Given the description of an element on the screen output the (x, y) to click on. 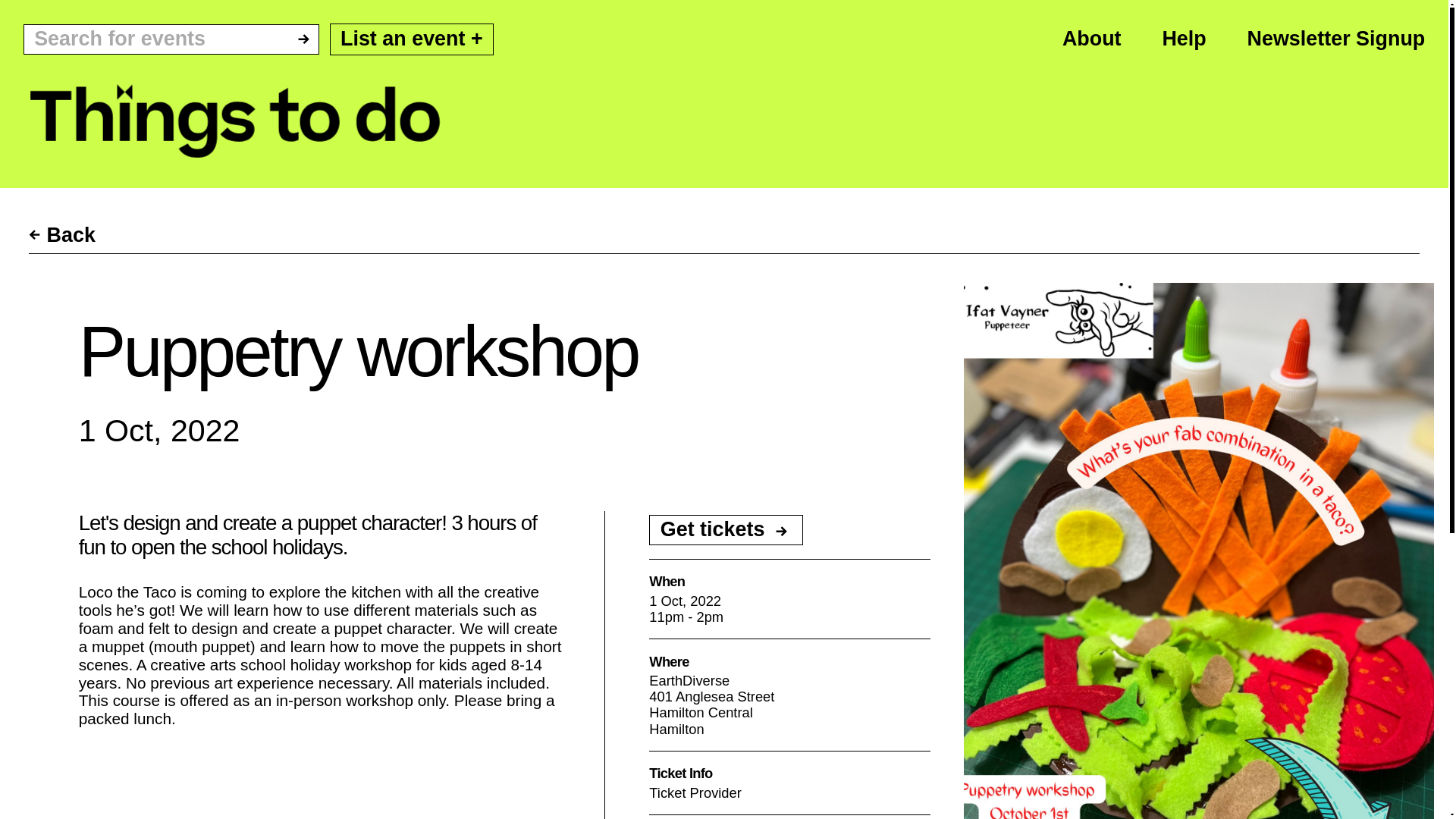
Newsletter Signup (1336, 38)
About (1091, 38)
Help (1183, 38)
Back (62, 235)
Get tickets (726, 530)
